Given the description of an element on the screen output the (x, y) to click on. 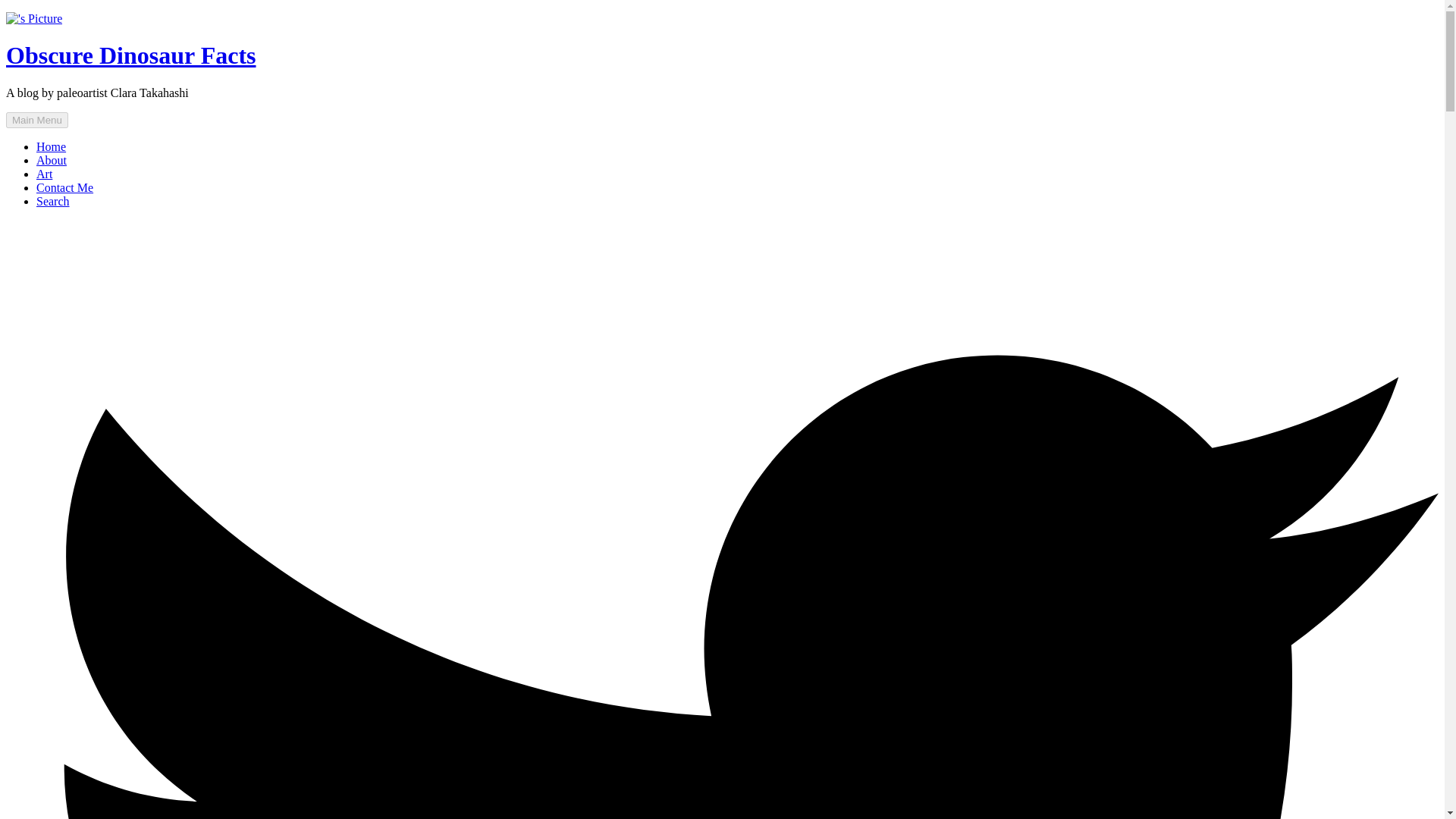
Art (44, 173)
About (51, 160)
Home (50, 146)
Search (52, 201)
Obscure Dinosaur Facts (130, 54)
Contact Me (64, 187)
Main Menu (36, 119)
